Given the description of an element on the screen output the (x, y) to click on. 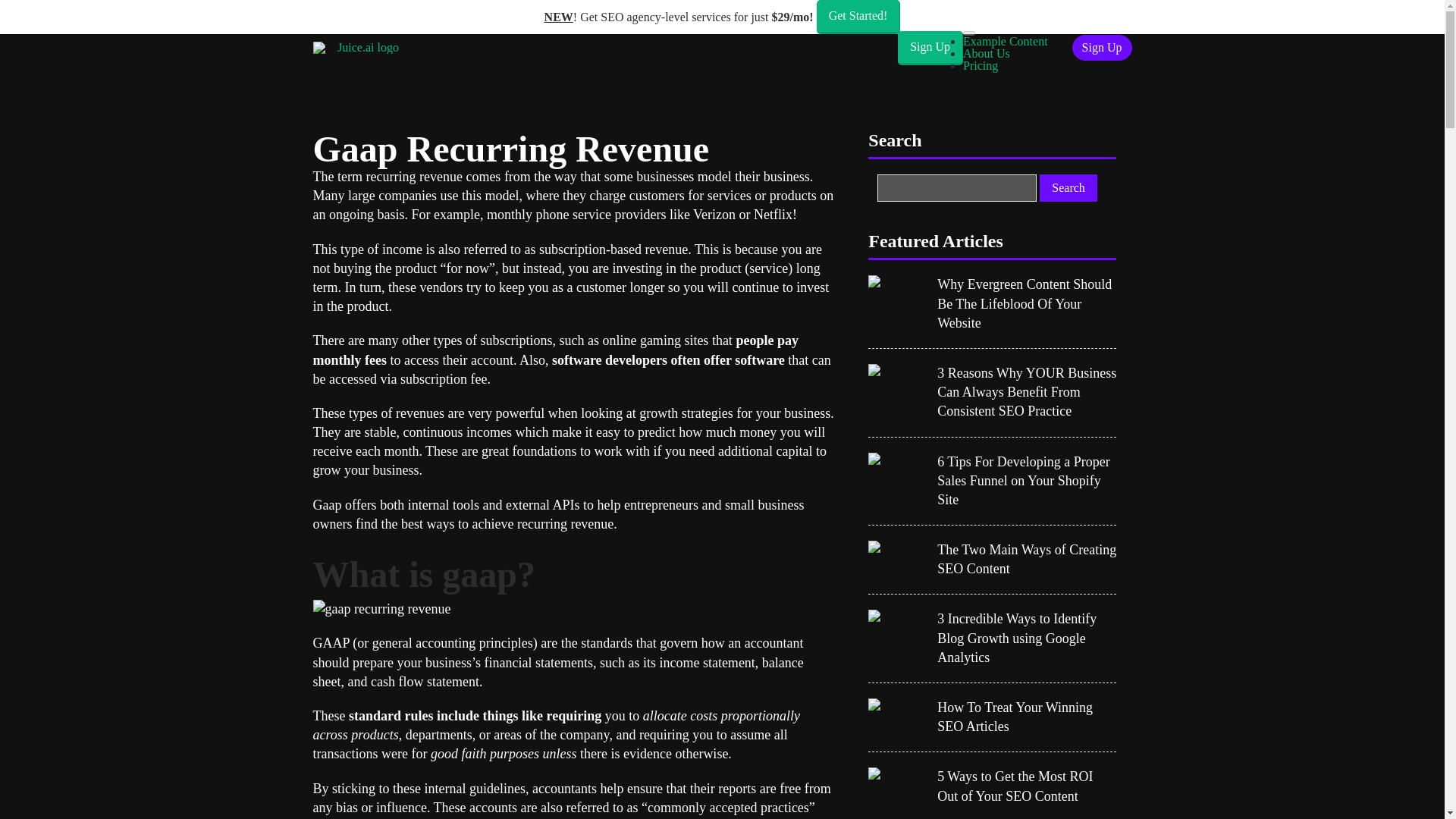
How To Treat Your Winning SEO Articles (1026, 717)
5 Ways to Get the Most ROI Out of Your SEO Content (1026, 786)
Sign Up (930, 47)
Get Started! (858, 17)
Pricing (979, 65)
About Us (986, 52)
Search (1068, 187)
The Two Main Ways of Creating SEO Content (1026, 559)
Sign Up (1101, 47)
Example Content (1005, 41)
Search (1068, 187)
